Given the description of an element on the screen output the (x, y) to click on. 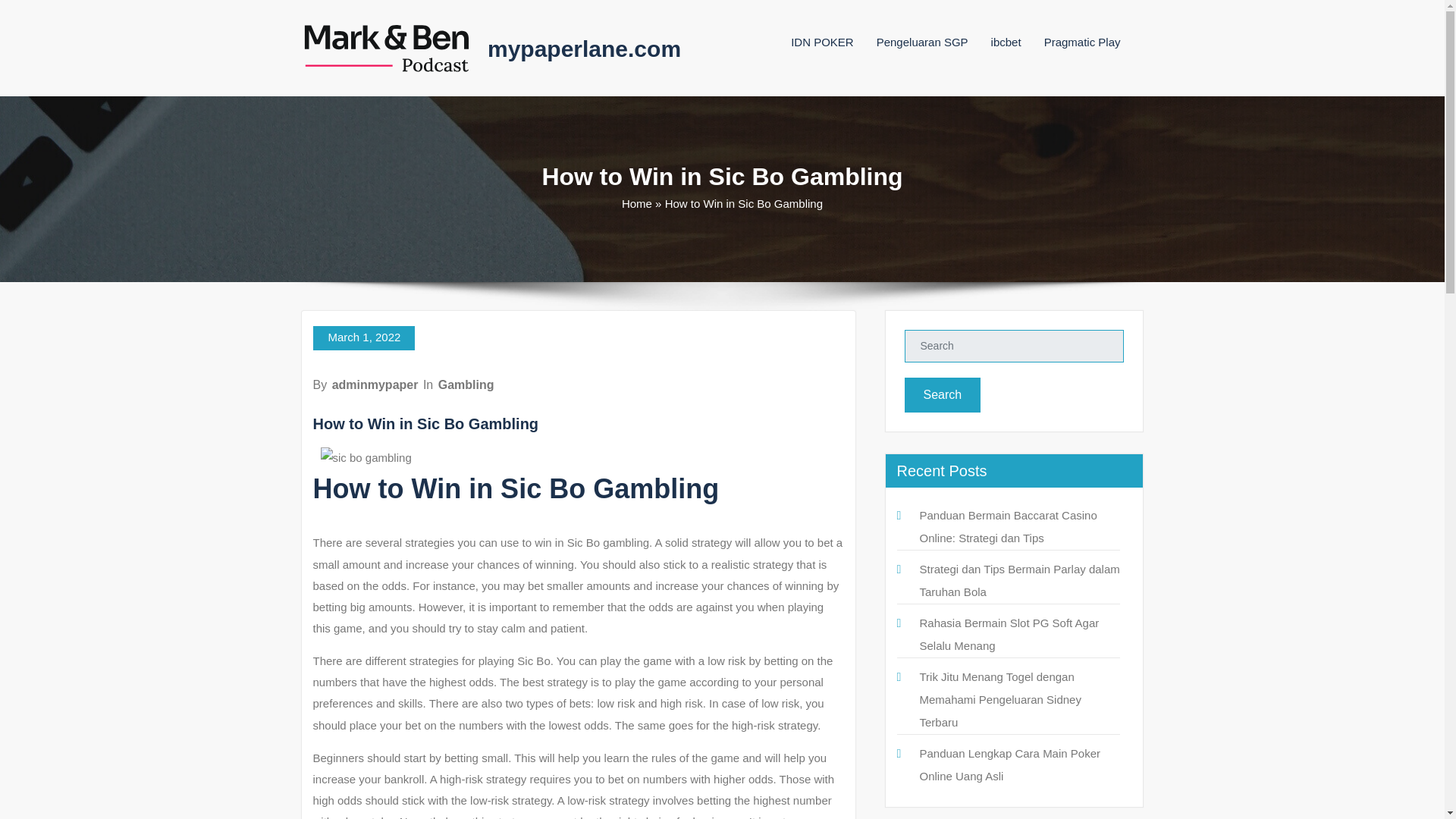
Strategi dan Tips Bermain Parlay dalam Taruhan Bola (1018, 580)
March 1, 2022 (363, 337)
Panduan Bermain Baccarat Casino Online: Strategi dan Tips (1007, 526)
Gambling (466, 384)
mypaperlane.com (584, 48)
IDN POKER (821, 41)
ibcbet (1006, 41)
adminmypaper (375, 384)
Panduan Lengkap Cara Main Poker Online Uang Asli (1009, 764)
Home (636, 203)
Pengeluaran SGP (922, 41)
Search (941, 394)
Rahasia Bermain Slot PG Soft Agar Selalu Menang (1008, 633)
Pragmatic Play (1082, 41)
